Given the description of an element on the screen output the (x, y) to click on. 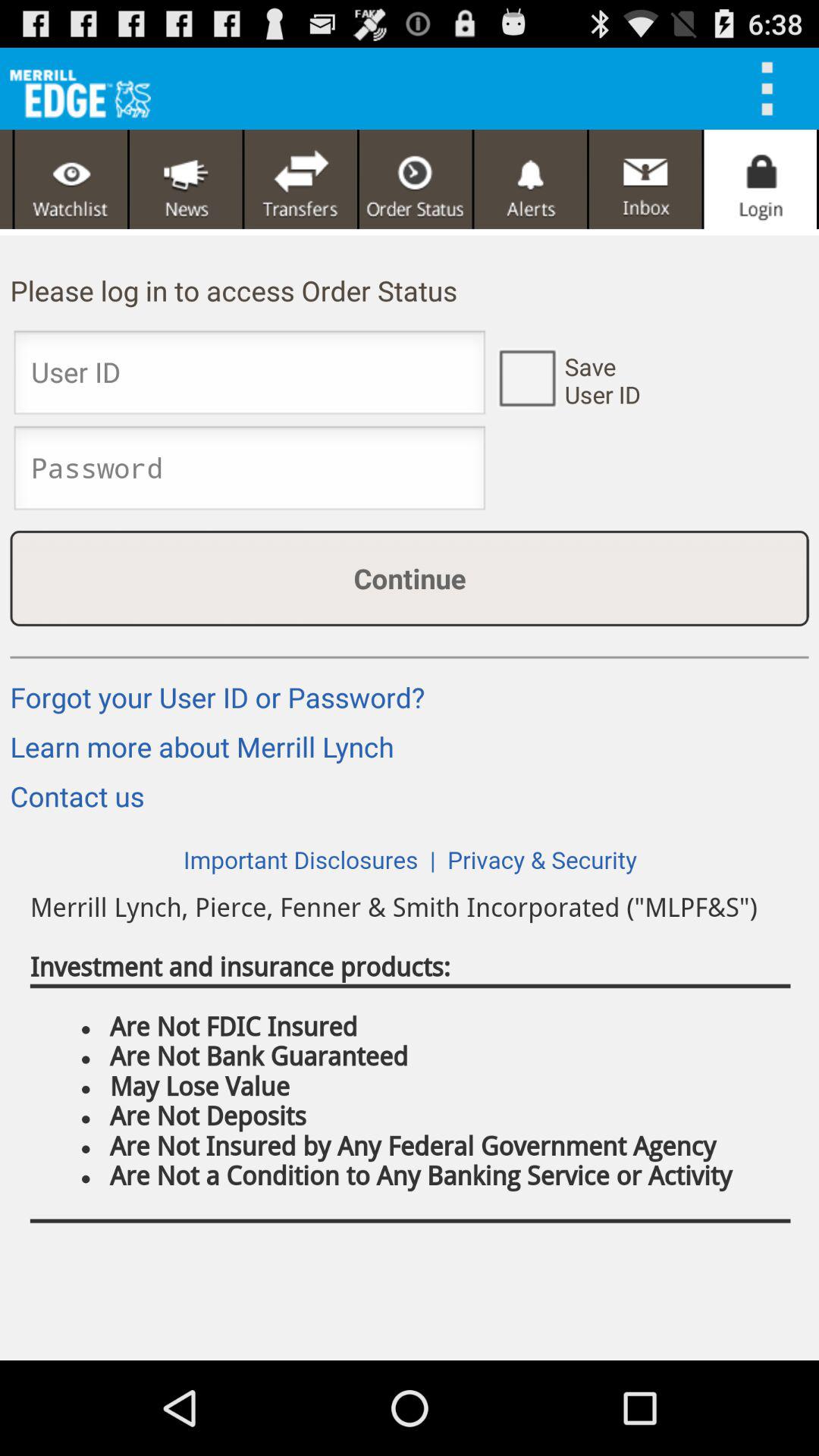
order status button (415, 179)
